Given the description of an element on the screen output the (x, y) to click on. 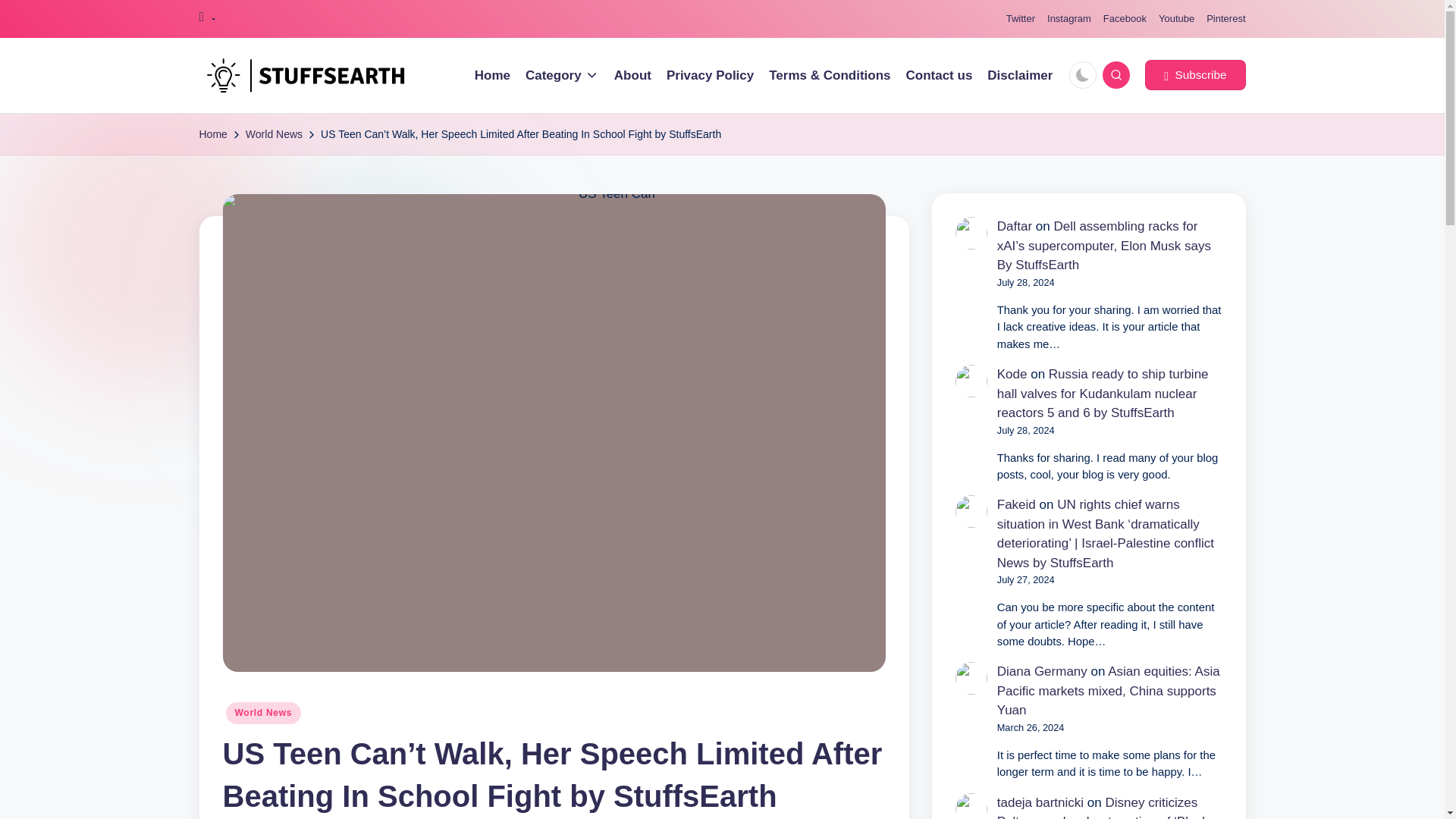
Instagram (1068, 18)
Home (212, 134)
Privacy Policy (710, 75)
World News (274, 134)
Subscribe (1194, 74)
Disclaimer (1019, 75)
Category (561, 75)
World News (263, 712)
Contact us (938, 75)
About (632, 75)
